Given the description of an element on the screen output the (x, y) to click on. 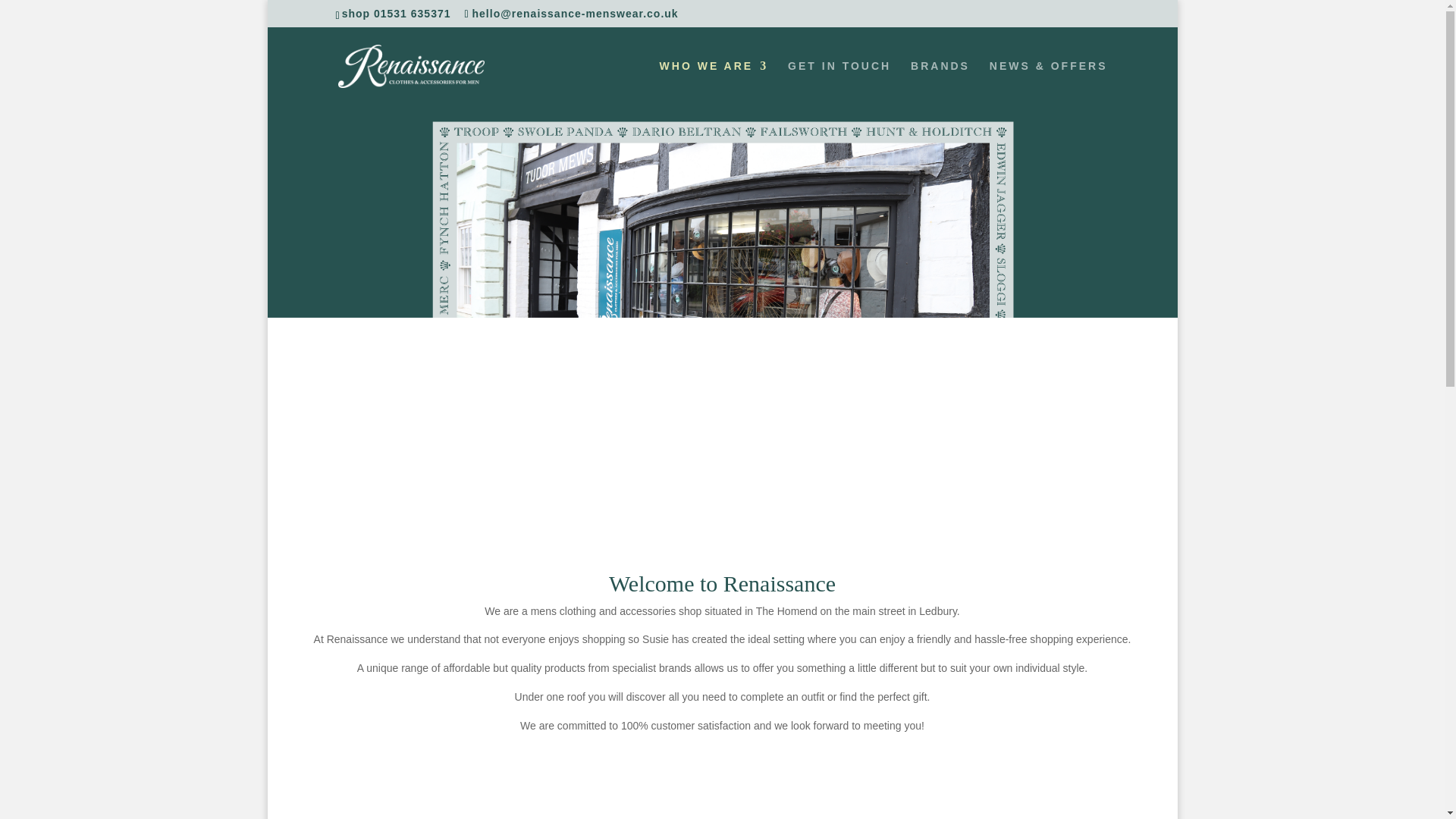
WHO WE ARE (713, 84)
BRANDS (940, 84)
GET IN TOUCH (839, 84)
